Given the description of an element on the screen output the (x, y) to click on. 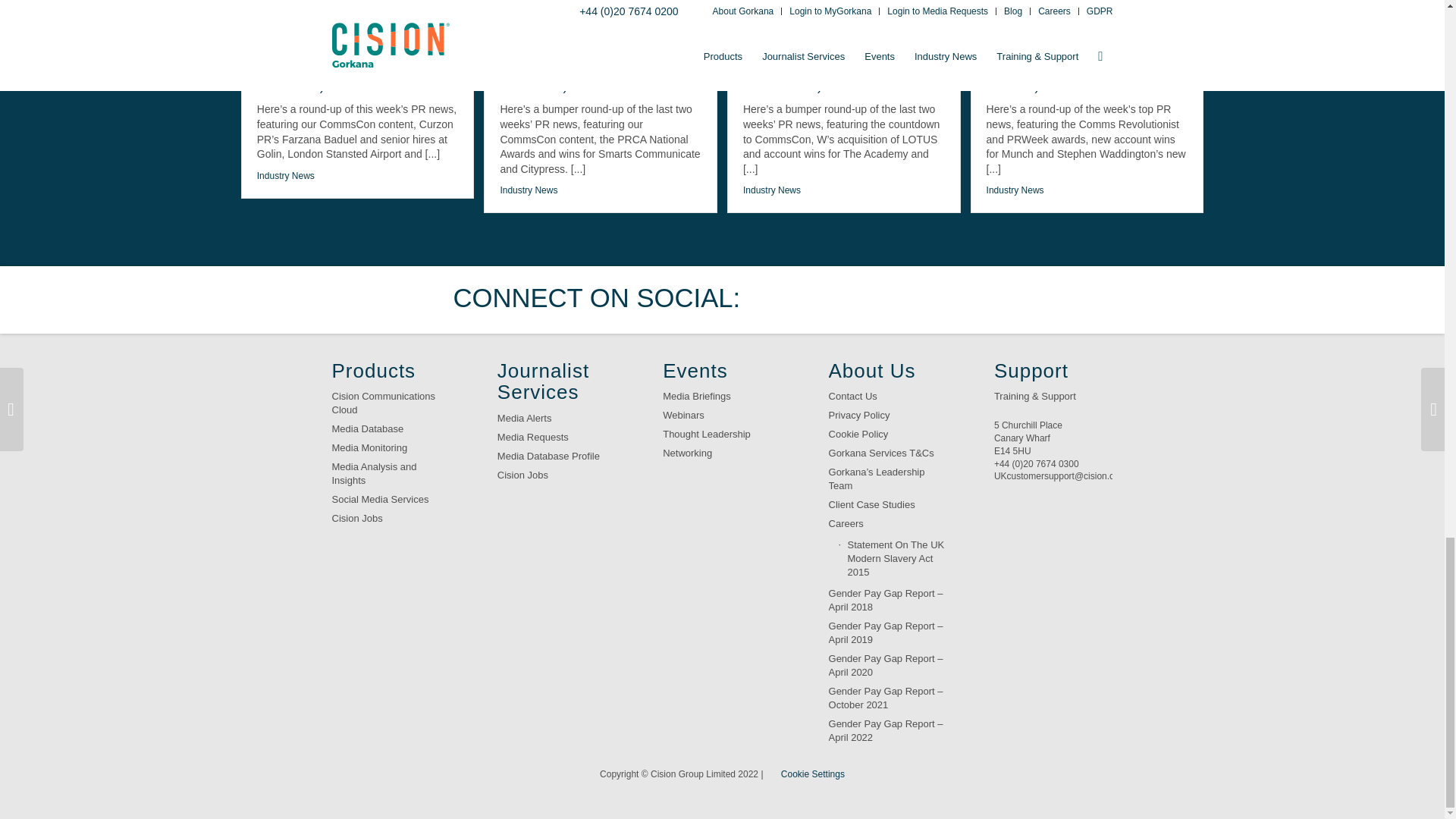
connect on Instagram (966, 298)
connect on Linkedin (872, 298)
connect on YouTube (918, 298)
connect on Facebook (824, 298)
connect on Twitter (777, 298)
